Given the description of an element on the screen output the (x, y) to click on. 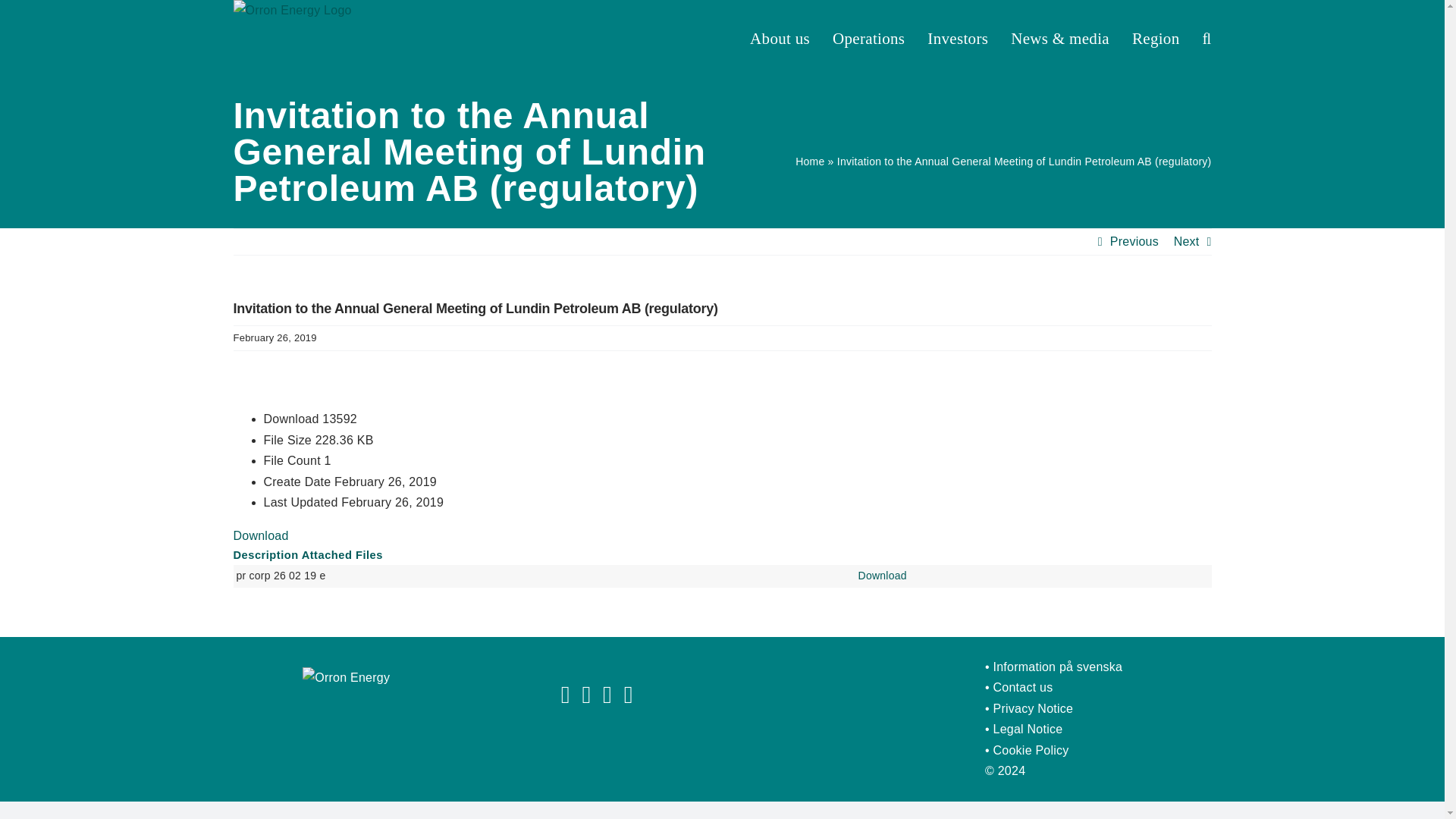
Operations (868, 38)
